Given the description of an element on the screen output the (x, y) to click on. 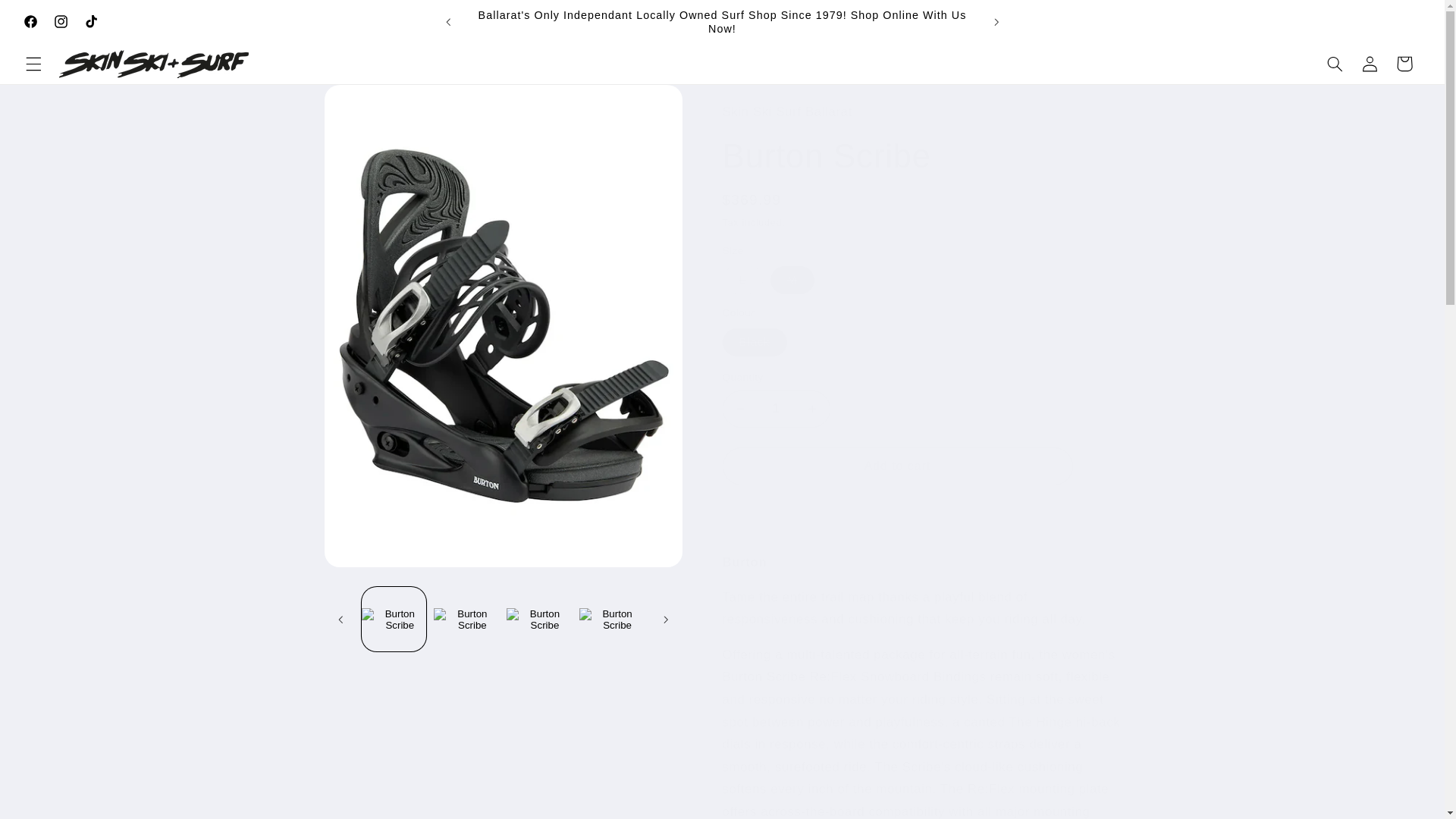
Instagram (61, 21)
1 (775, 408)
Skip to content (48, 18)
Facebook (31, 21)
TikTok (91, 21)
